Given the description of an element on the screen output the (x, y) to click on. 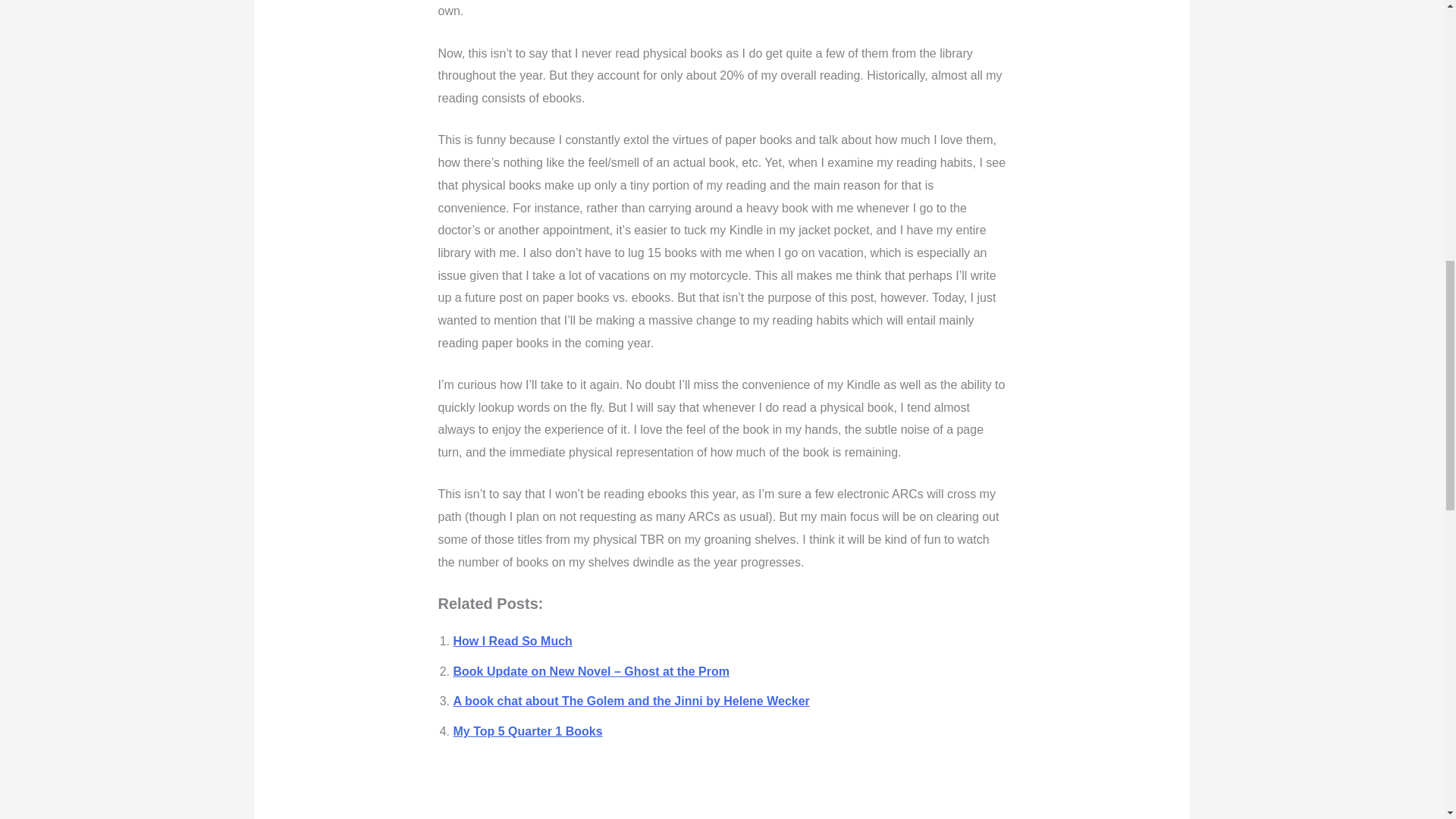
My Top 5 Quarter 1 Books (527, 730)
A book chat about The Golem and the Jinni by Helene Wecker (630, 700)
How I Read So Much (512, 640)
